Given the description of an element on the screen output the (x, y) to click on. 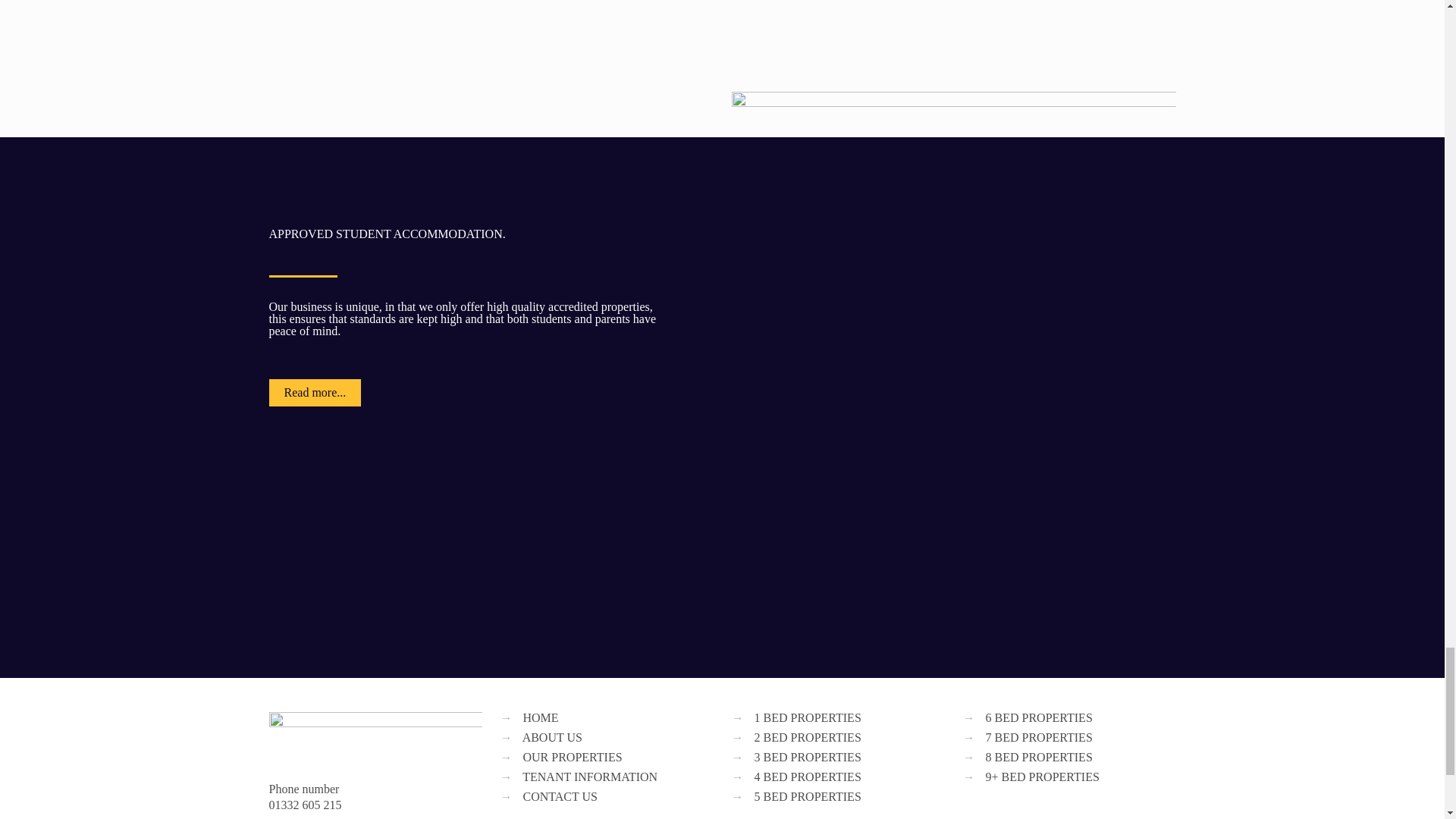
1 BED PROPERTIES (807, 717)
Read more... (314, 392)
ABOUT US (552, 737)
4 BED PROPERTIES (807, 776)
HOME (540, 717)
01332 605 215 (303, 804)
2 BED PROPERTIES (807, 737)
3 BED PROPERTIES (807, 757)
TENANT INFORMATION (590, 776)
OUR PROPERTIES (572, 757)
CONTACT US (559, 796)
